Given the description of an element on the screen output the (x, y) to click on. 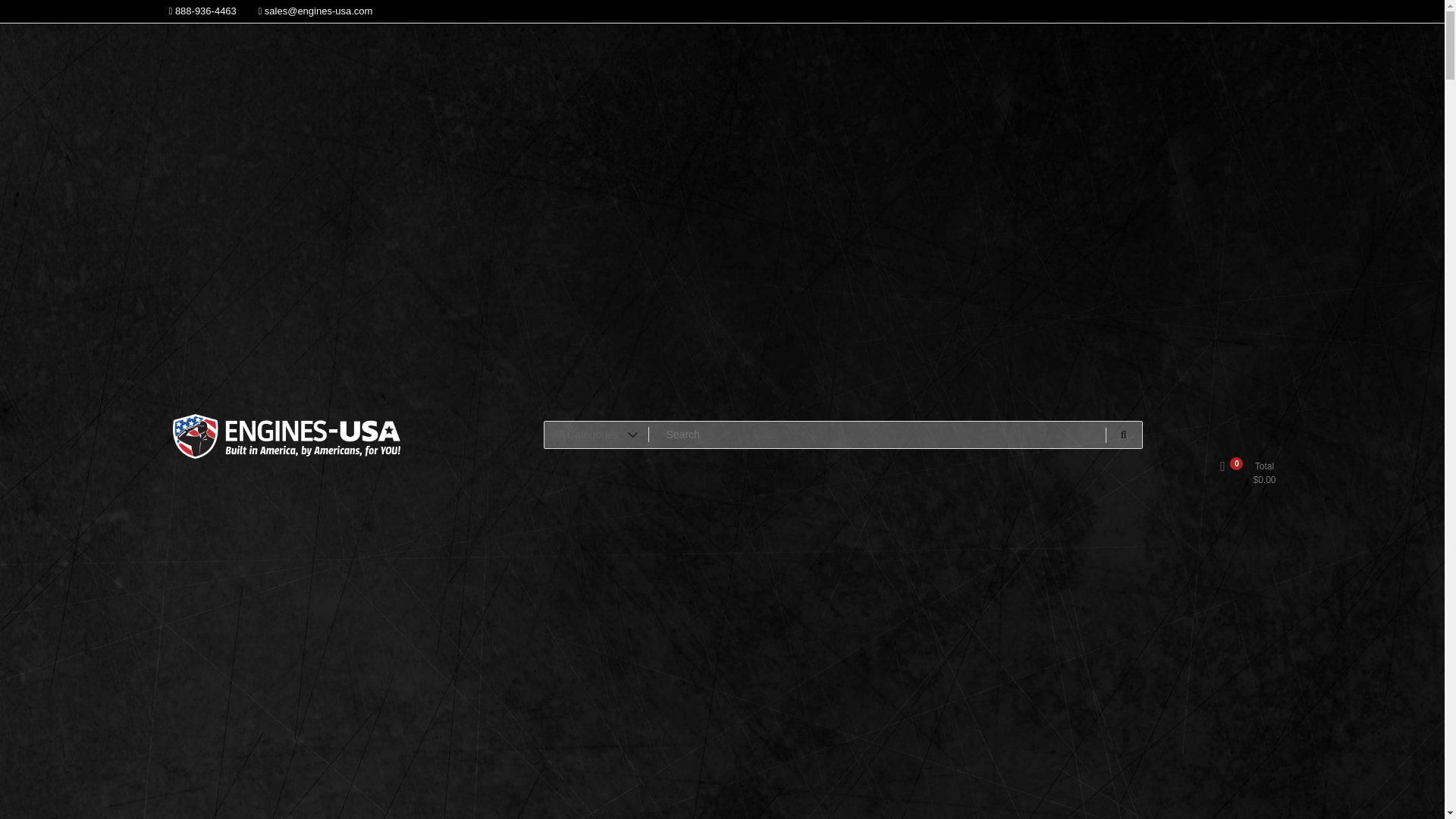
888-936-4463 (202, 11)
Engines-USA (245, 475)
Search for: (842, 434)
